Given the description of an element on the screen output the (x, y) to click on. 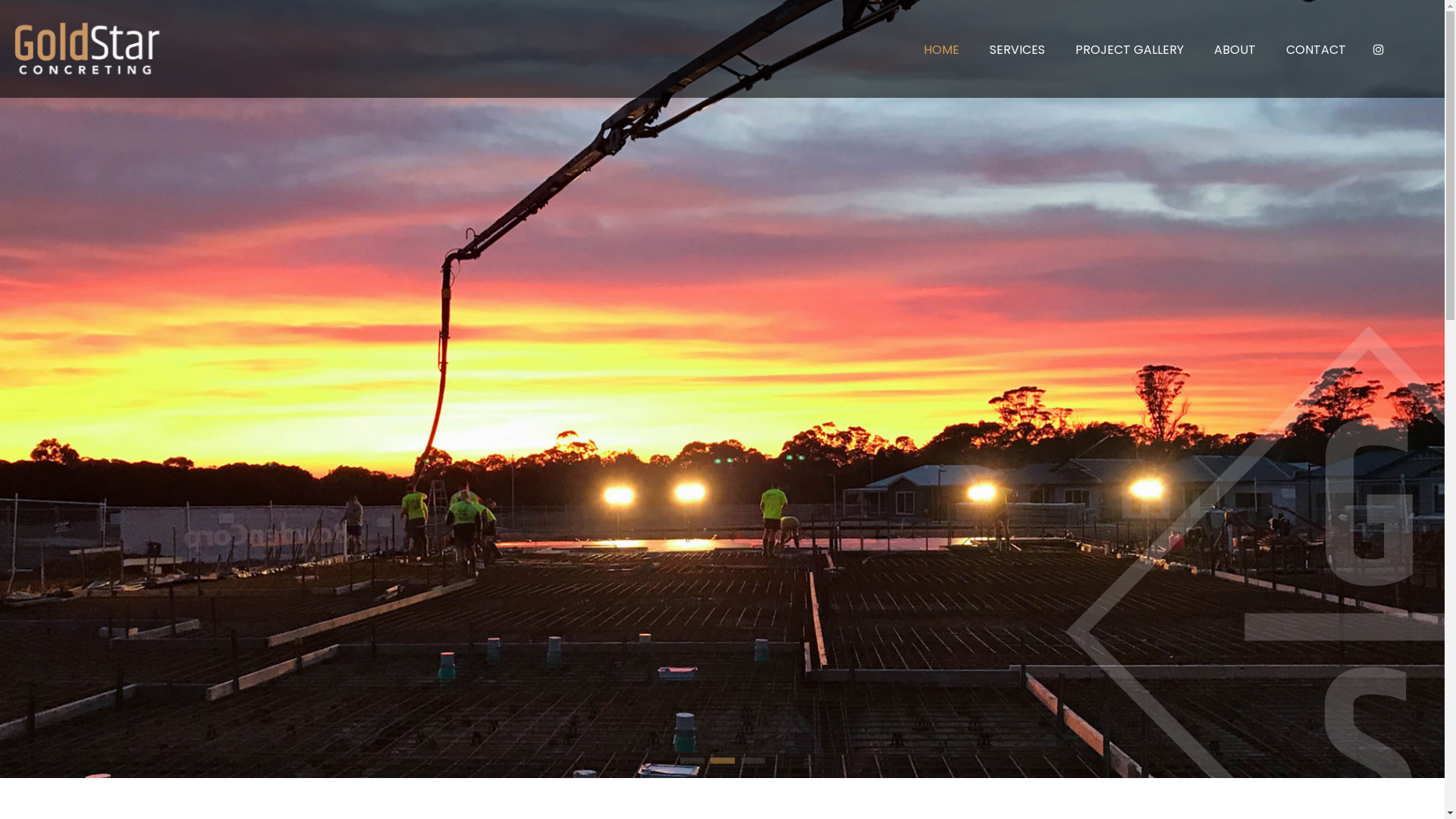
PROJECT GALLERY Element type: text (1129, 49)
CONTACT Element type: text (1315, 49)
SERVICES Element type: text (1017, 49)
ABOUT Element type: text (1234, 49)
HOME Element type: text (941, 49)
